Given the description of an element on the screen output the (x, y) to click on. 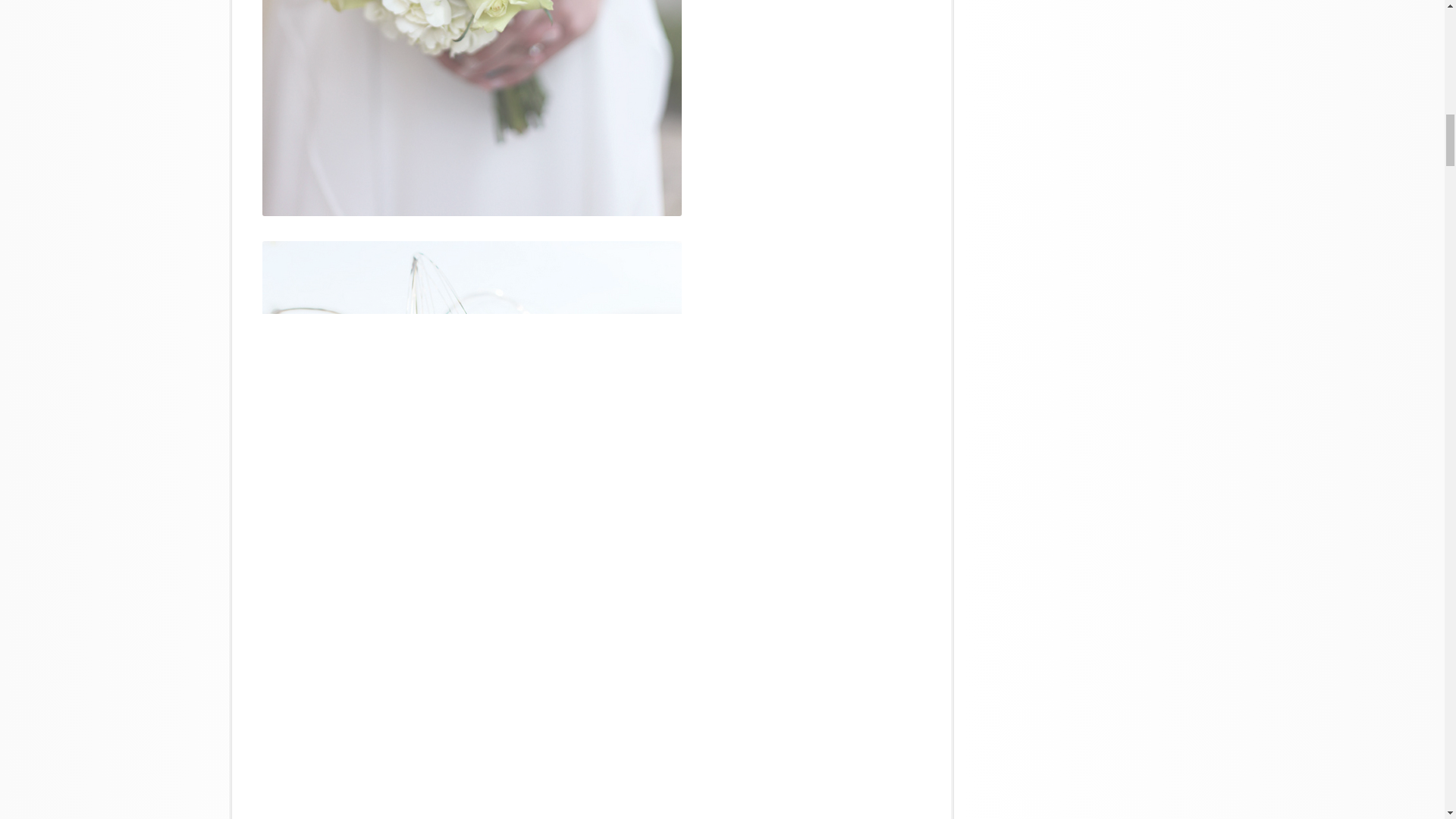
b (471, 108)
